Given the description of an element on the screen output the (x, y) to click on. 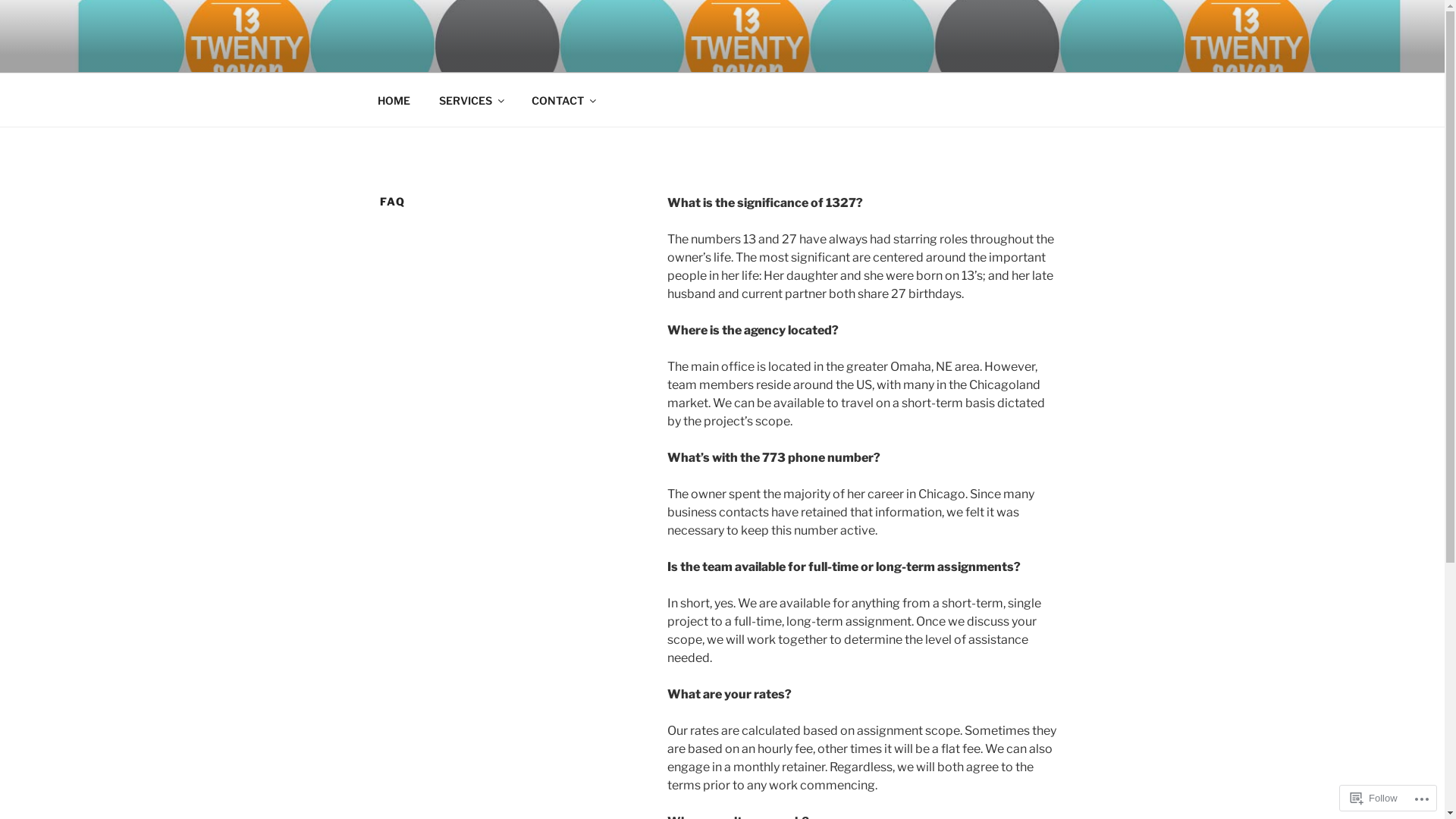
CONTACT Element type: text (563, 100)
SERVICES Element type: text (471, 100)
1327 CONSULTING Element type: text (524, 52)
HOME Element type: text (393, 100)
Follow Element type: text (1373, 797)
